Given the description of an element on the screen output the (x, y) to click on. 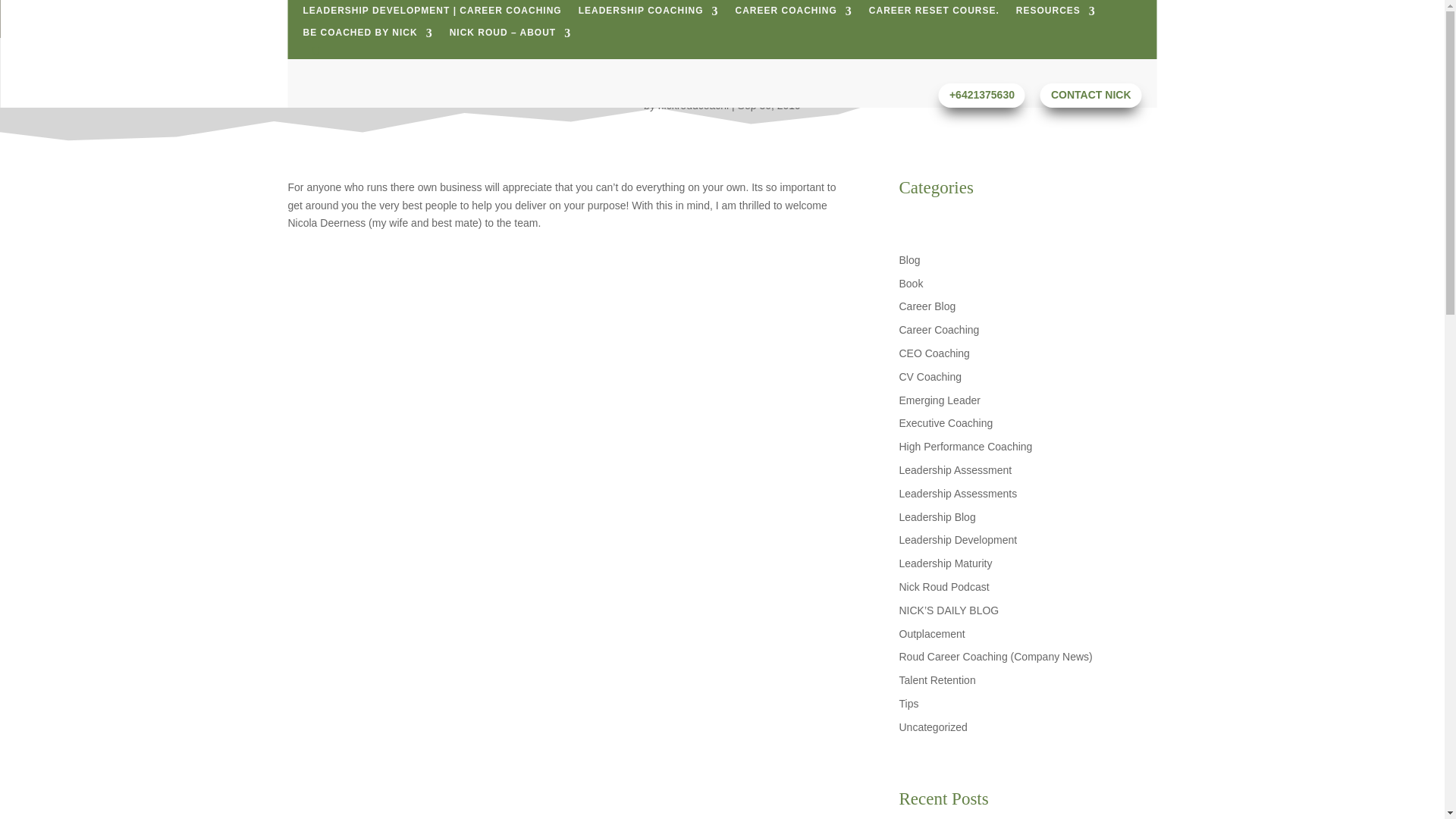
Book (911, 283)
Career Blog (927, 306)
RESOURCES (1056, 13)
Executive Coaching (945, 422)
Leadership Blog (937, 517)
Leadership Assessments (958, 493)
CAREER COACHING (793, 13)
Career Coaching (939, 329)
CEO Coaching (934, 353)
nickroudcoachi (693, 105)
Leadership Assessment (955, 469)
High Performance Coaching (965, 446)
BE COACHED BY NICK (367, 35)
Emerging Leader (939, 399)
Posts by nickroudcoachi (693, 105)
